Given the description of an element on the screen output the (x, y) to click on. 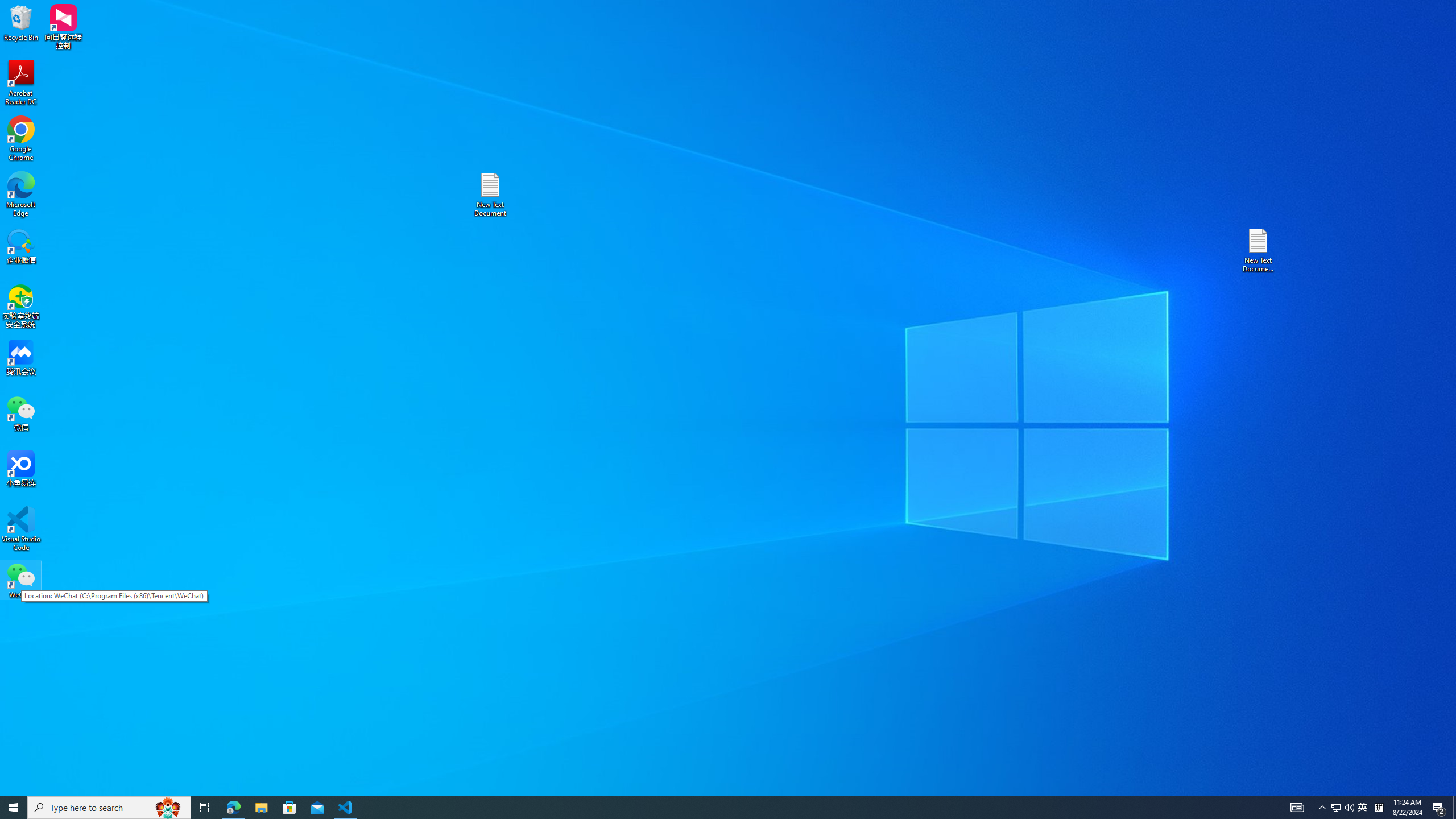
Microsoft Edge (21, 194)
Microsoft Edge - 1 running window (1362, 807)
Q2790: 100% (233, 807)
